Given the description of an element on the screen output the (x, y) to click on. 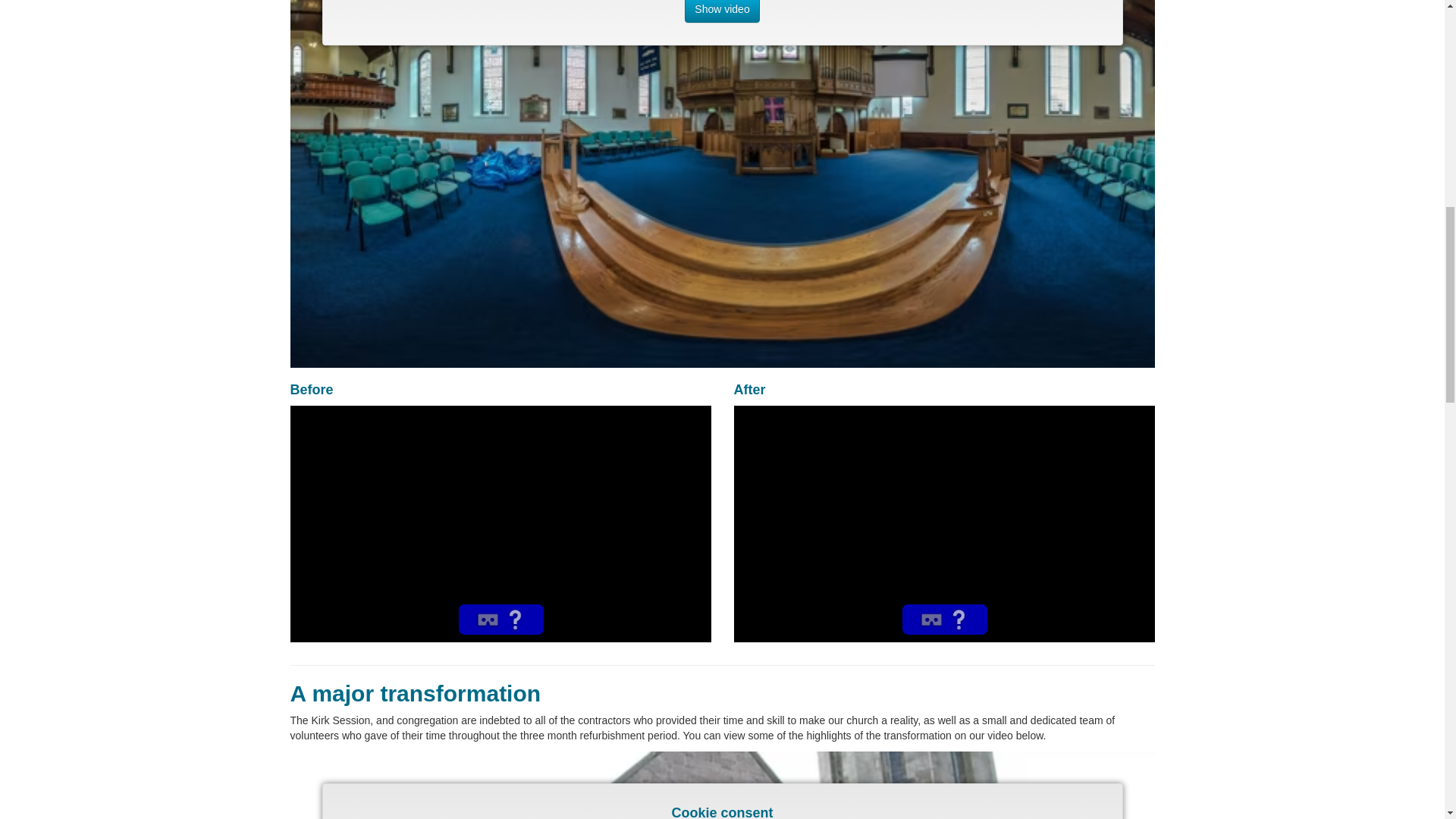
Show video (721, 11)
